Given the description of an element on the screen output the (x, y) to click on. 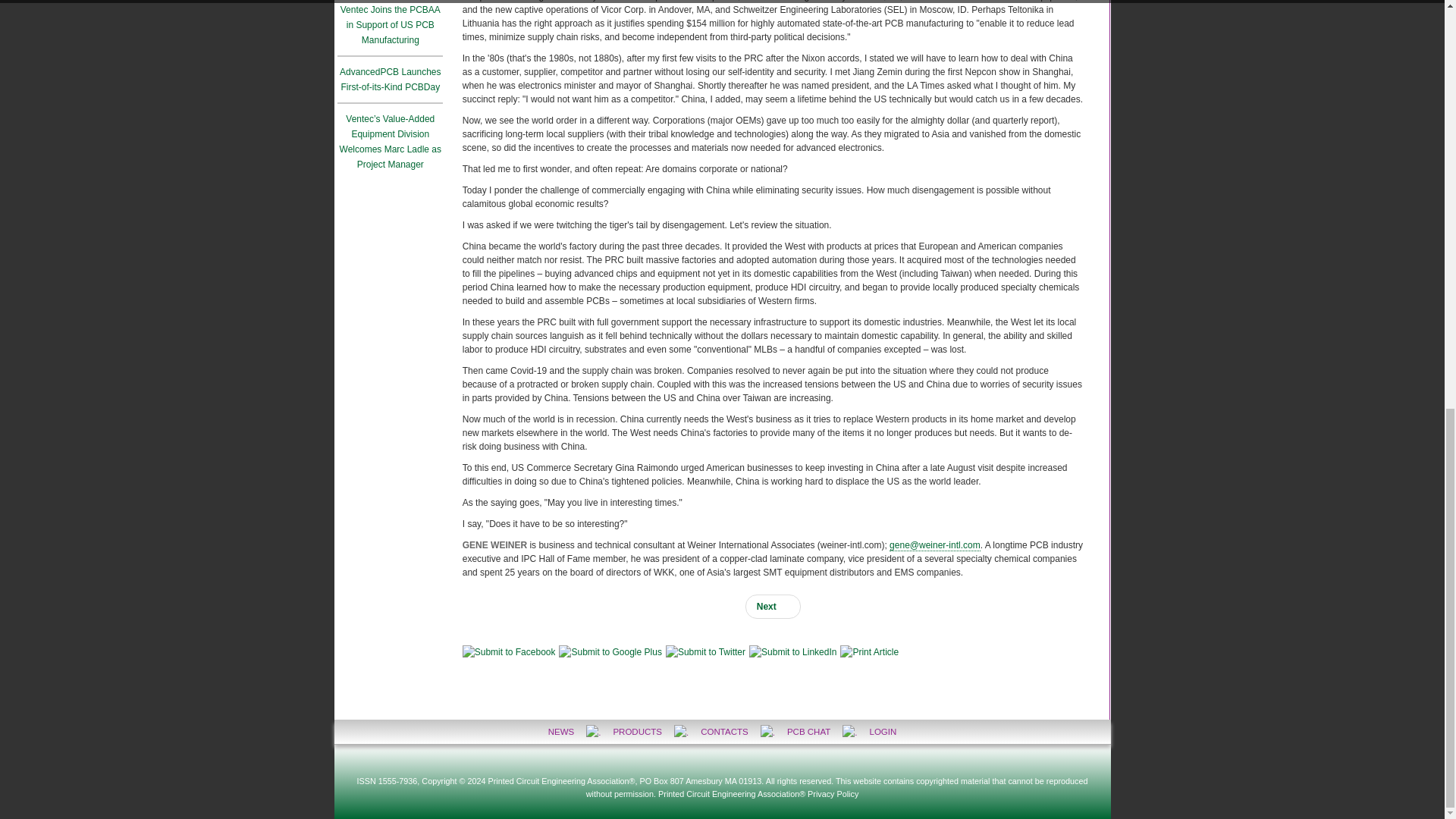
Submit to LinkedIn (792, 652)
Submit to Google Plus (610, 652)
Submit to Twitter (705, 652)
Print (869, 652)
Print Article (869, 652)
Submit to Facebook (509, 652)
